Given the description of an element on the screen output the (x, y) to click on. 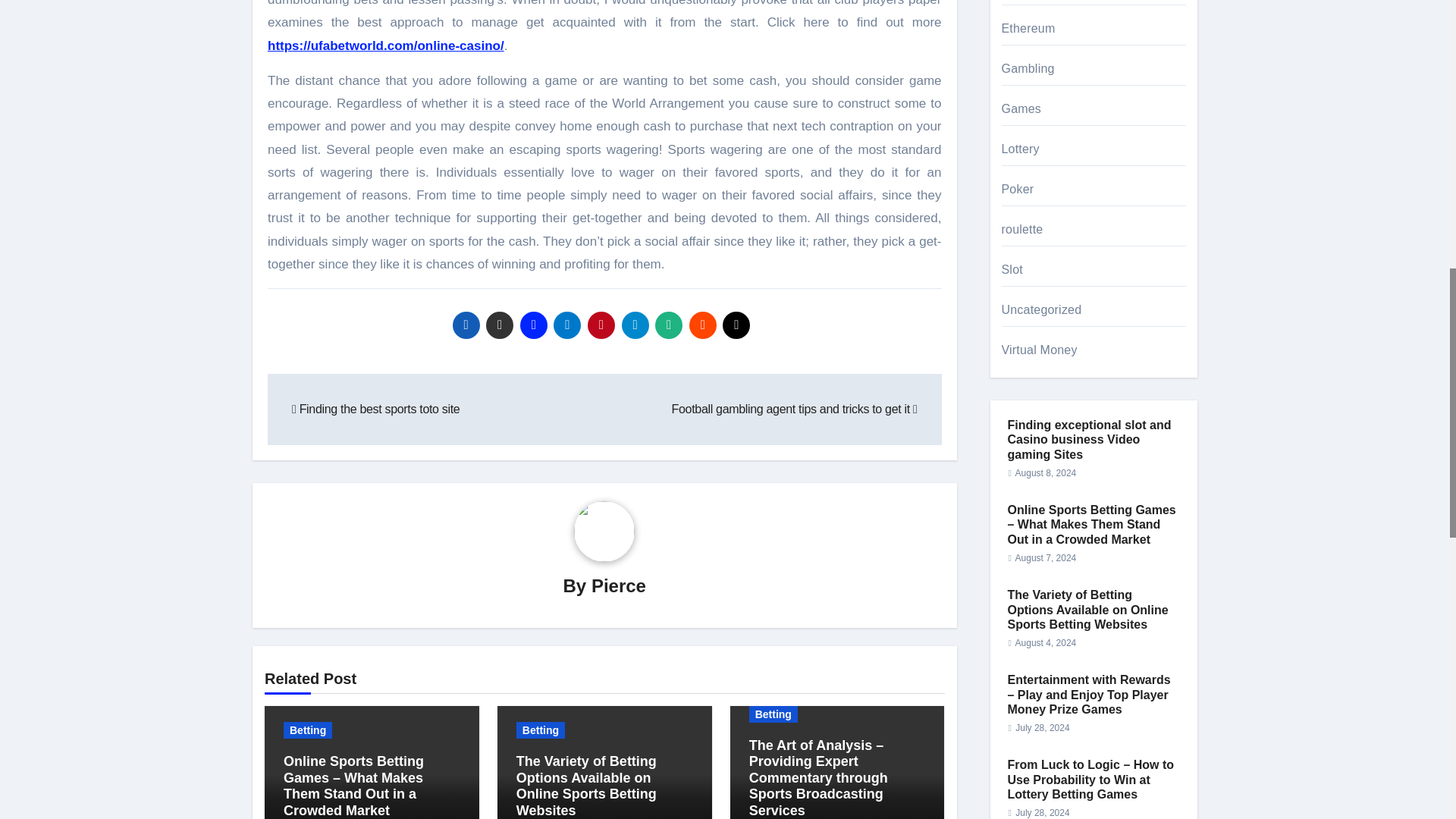
Pierce (618, 585)
Finding the best sports toto site (376, 408)
Football gambling agent tips and tricks to get it (794, 408)
